Given the description of an element on the screen output the (x, y) to click on. 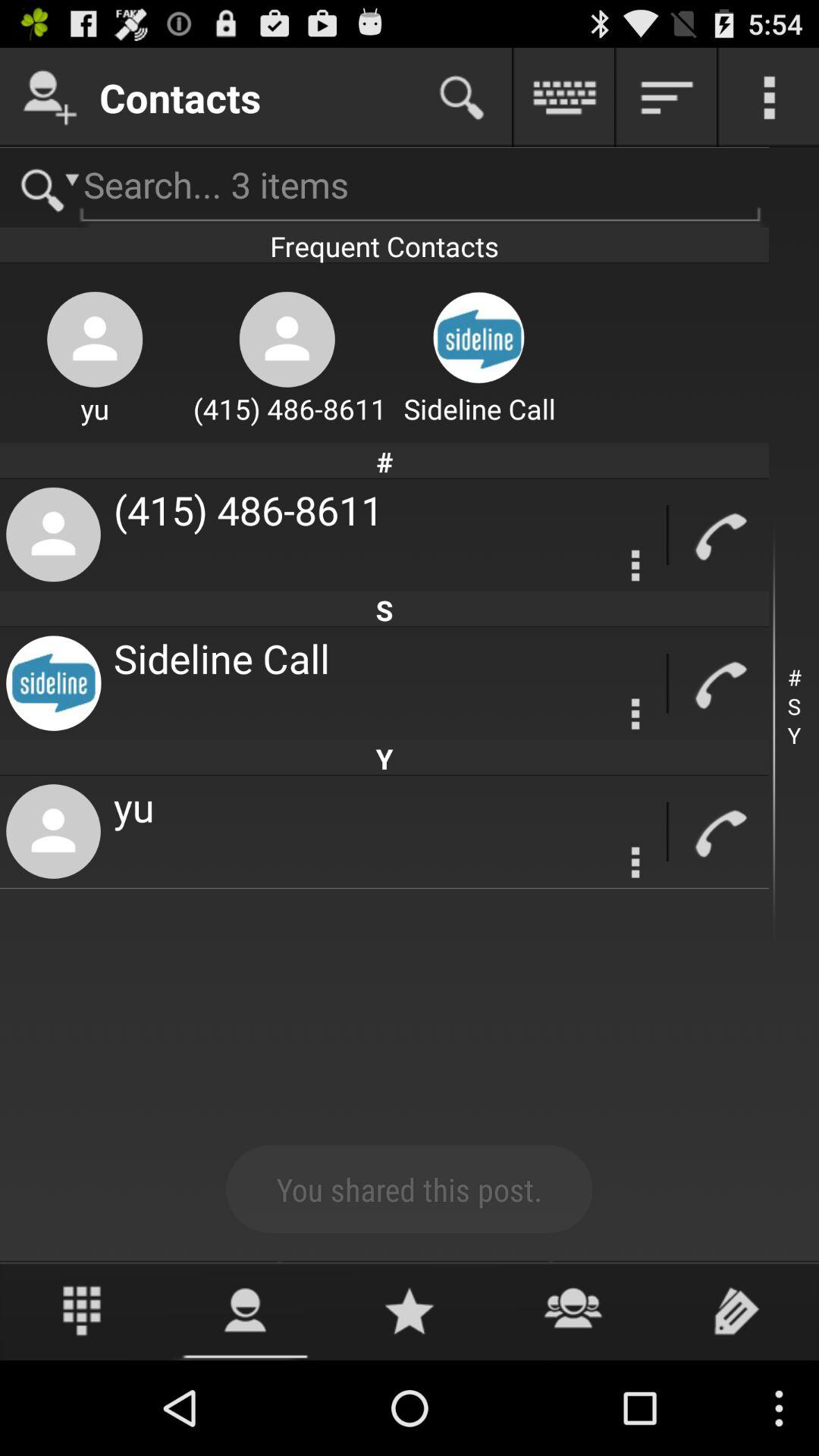
favorites button (409, 1310)
